Given the description of an element on the screen output the (x, y) to click on. 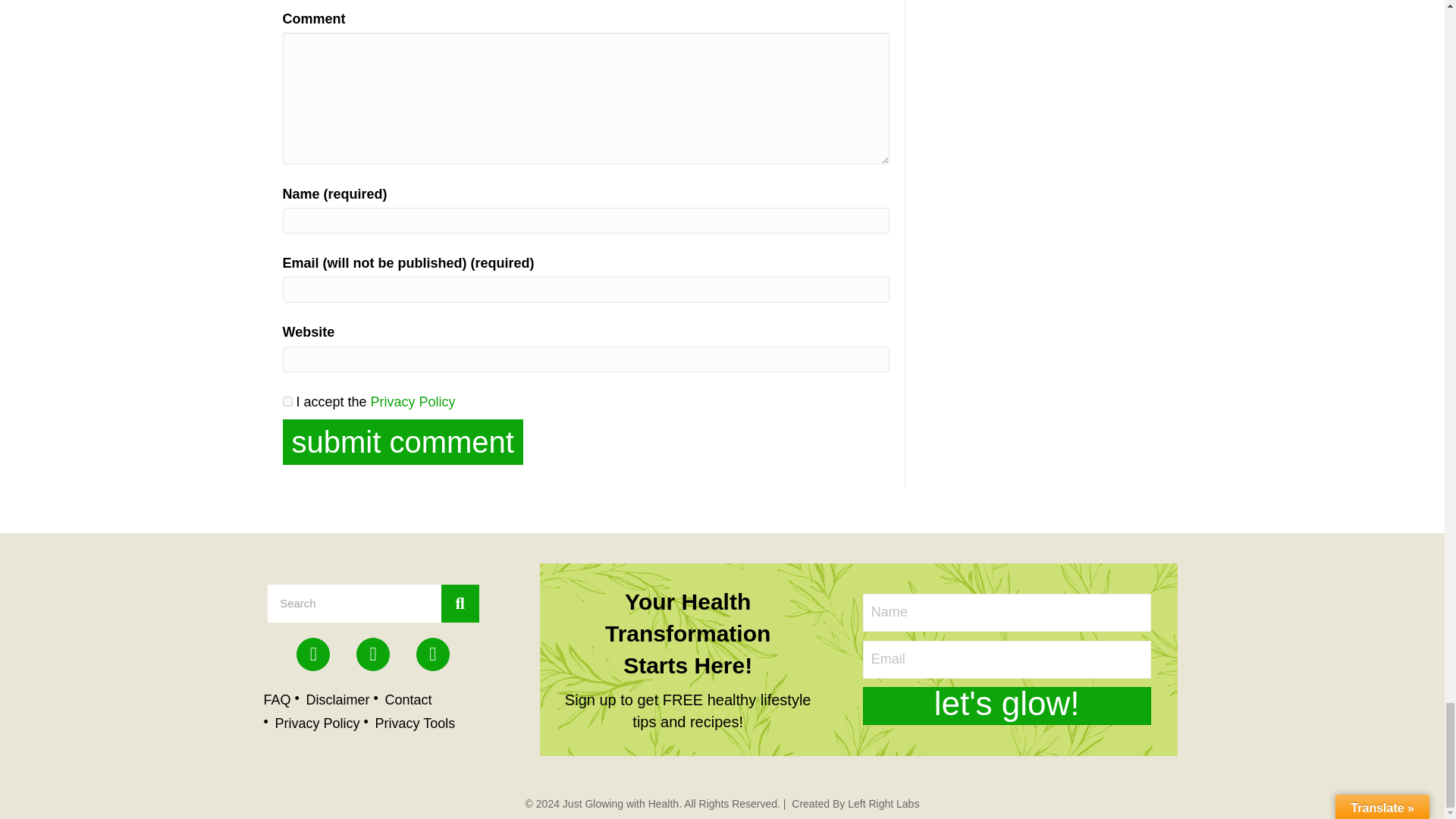
Submit Comment (402, 442)
Submit Comment (402, 442)
Search (353, 603)
Privacy Policy (413, 401)
1 (287, 401)
